Given the description of an element on the screen output the (x, y) to click on. 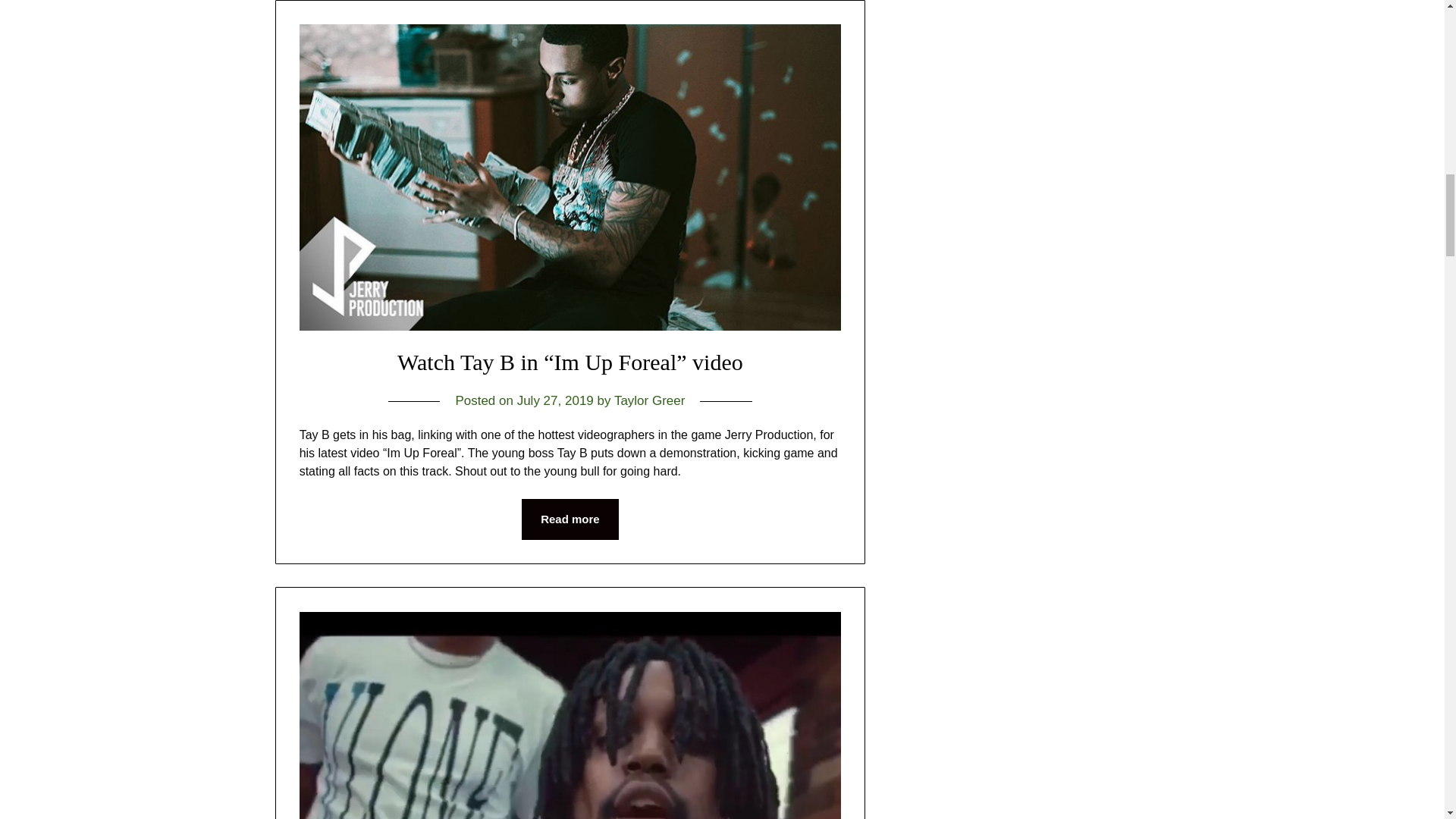
Read more (569, 518)
Taylor Greer (649, 400)
July 27, 2019 (555, 400)
